Given the description of an element on the screen output the (x, y) to click on. 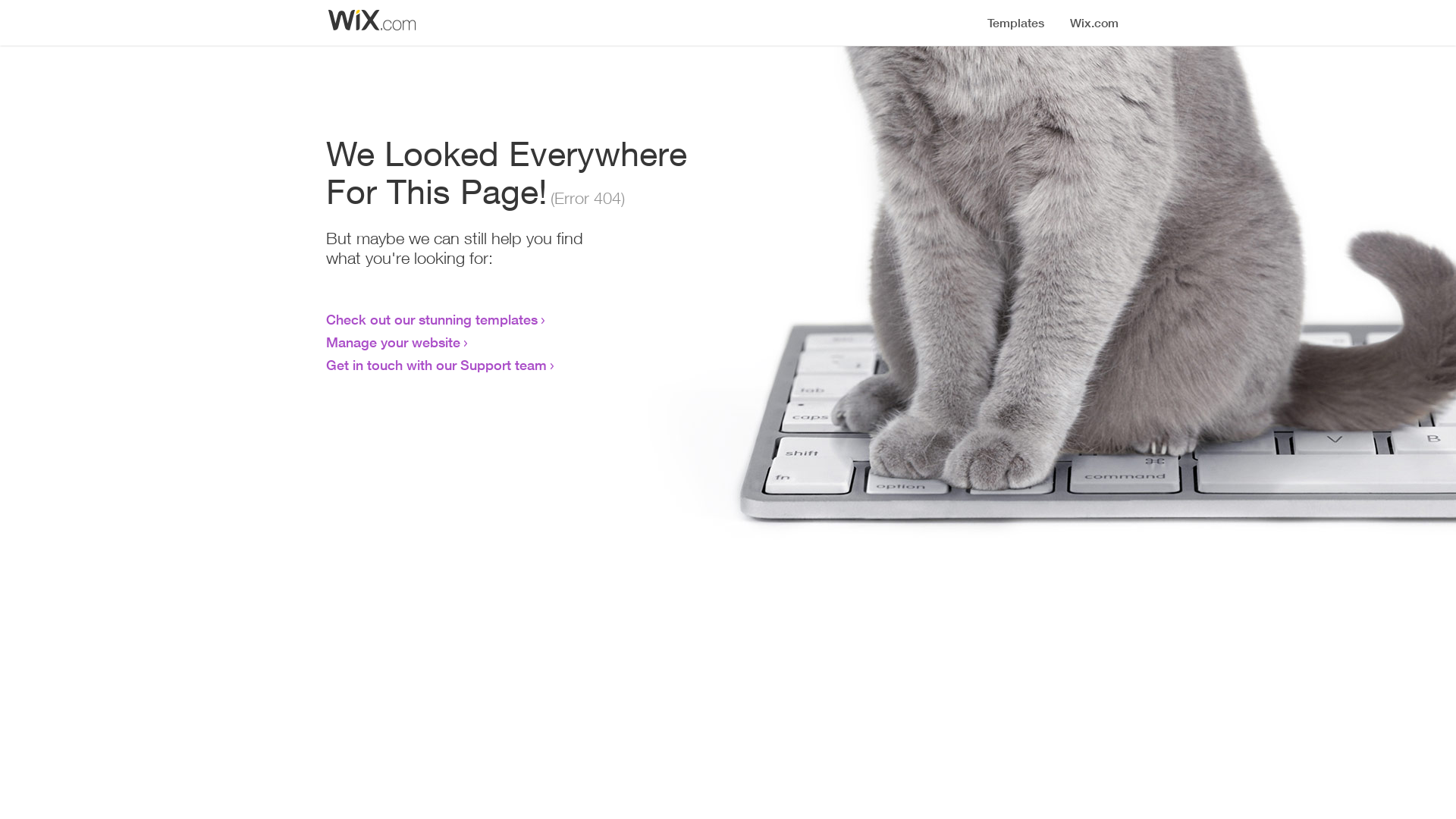
Check out our stunning templates Element type: text (431, 318)
Manage your website Element type: text (393, 341)
Get in touch with our Support team Element type: text (436, 364)
